Given the description of an element on the screen output the (x, y) to click on. 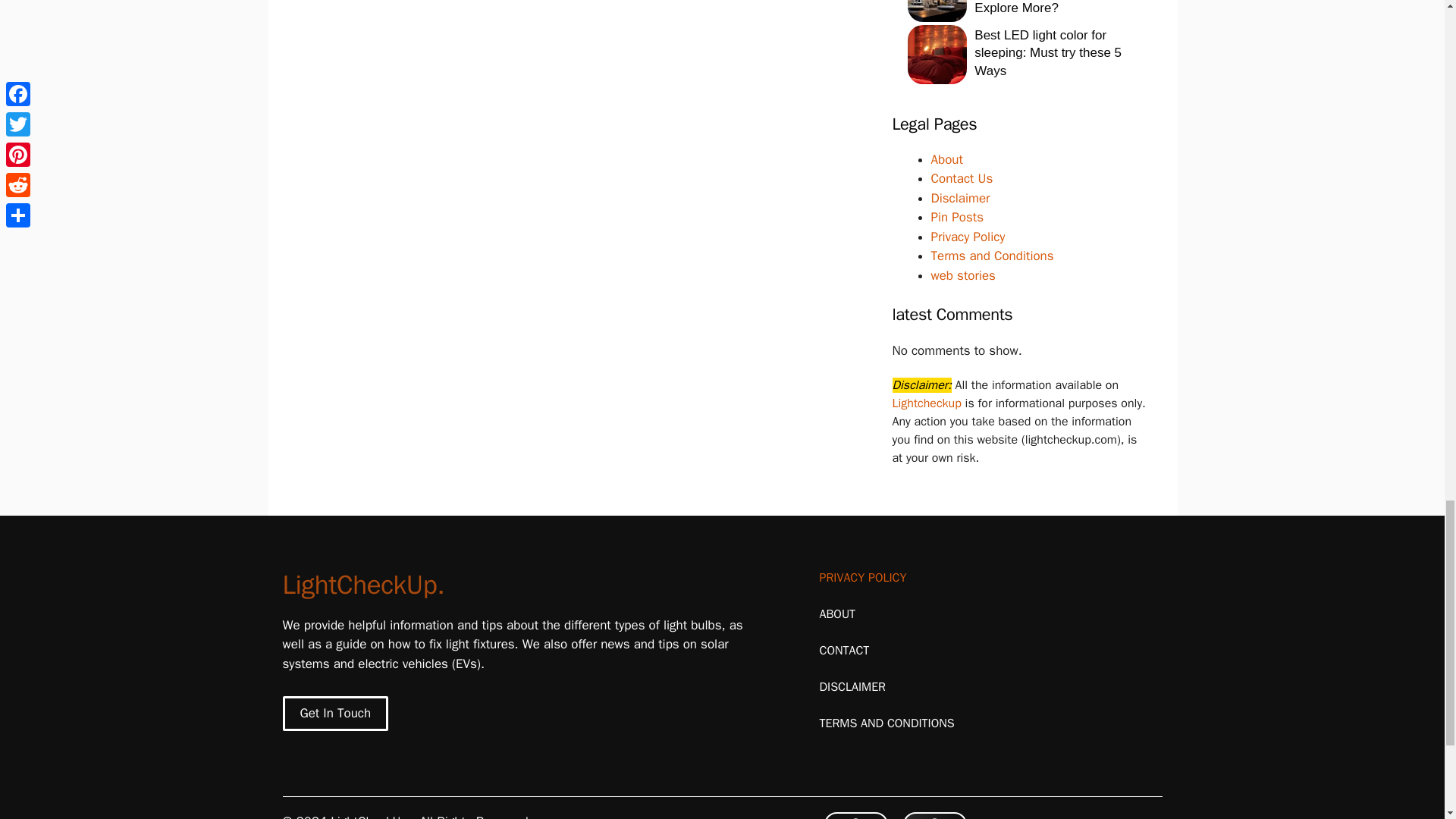
Best LED light color for sleeping: Must try these 5 Ways (1047, 52)
Terms and Conditions (992, 255)
Lightcheckup (927, 403)
About (946, 159)
Disclaimer (960, 198)
Top 8 Ceiling Lamps for Low Ceilings: Want to Explore More? (1041, 7)
Contact Us (961, 178)
web stories (963, 275)
Pin Posts (957, 217)
Privacy Policy (968, 236)
